Given the description of an element on the screen output the (x, y) to click on. 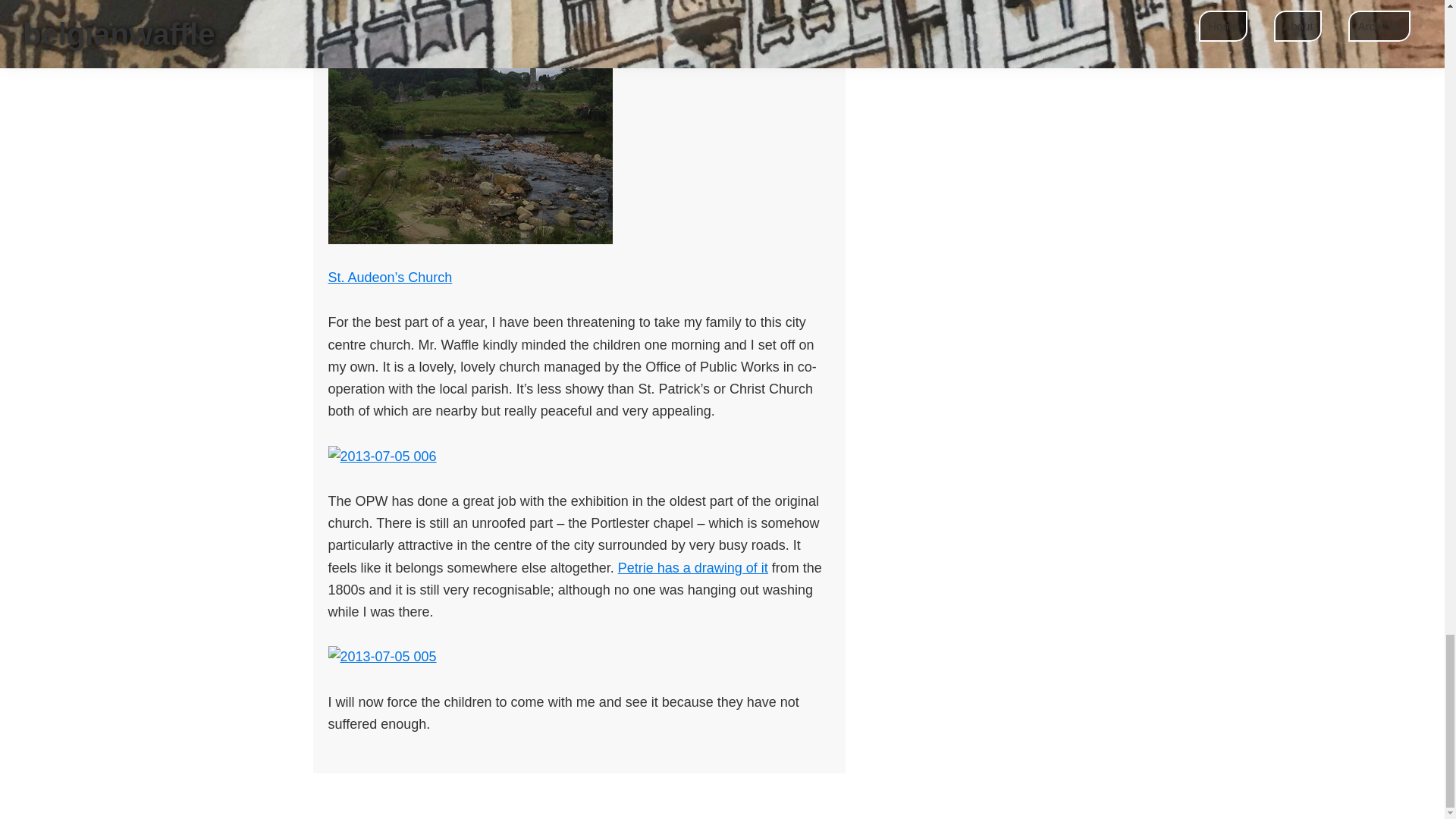
Petrie has a drawing of it (692, 567)
2013-07-05 006 by belgianwaffle, on Flickr (381, 455)
2013-07-05 005 by belgianwaffle, on Flickr (381, 656)
